Given the description of an element on the screen output the (x, y) to click on. 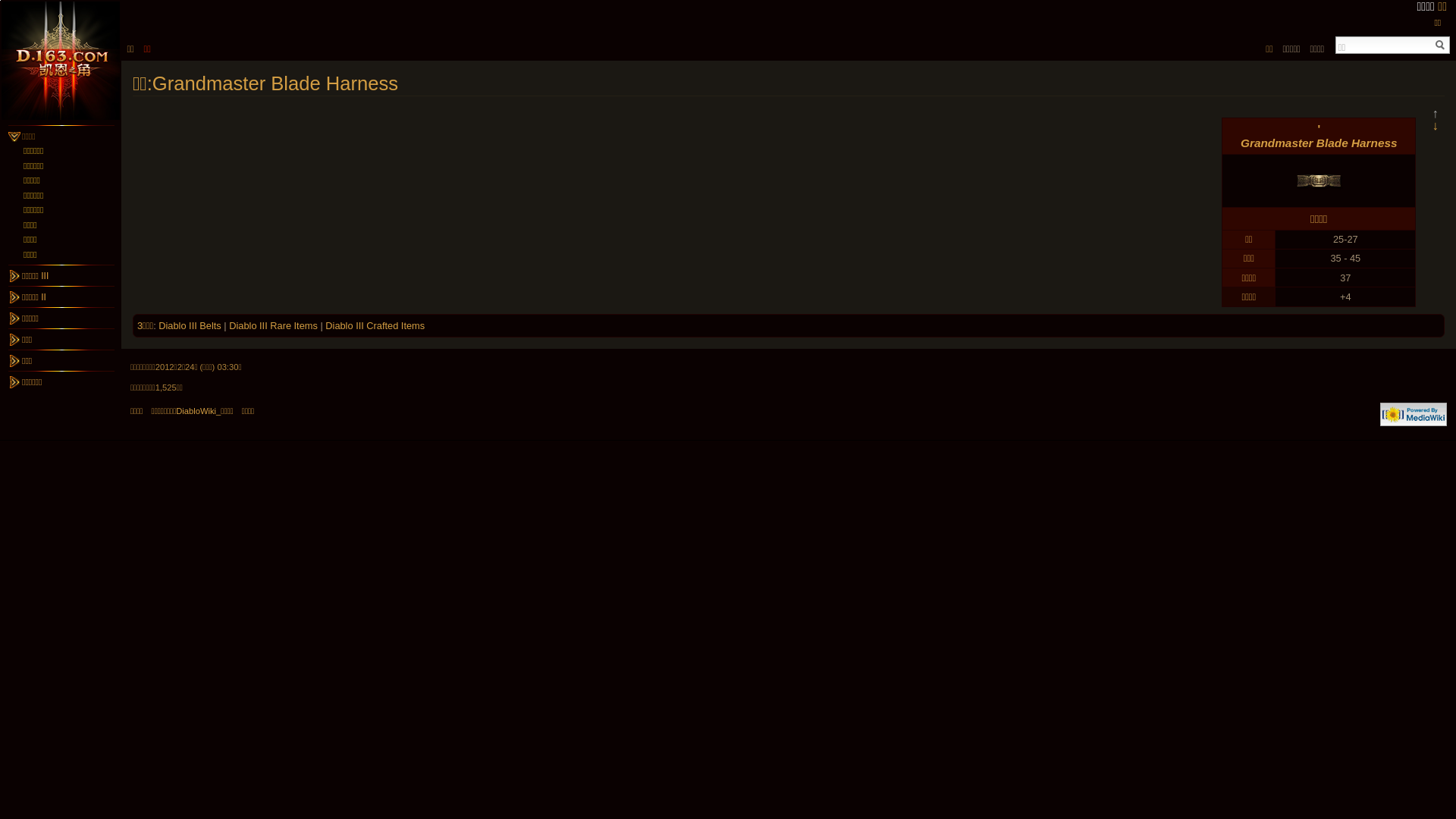
Diablo III Crafted Items Element type: text (374, 325)
  Element type: text (1440, 44)
Diablo III Rare Items Element type: text (273, 325)
Diablo III Belts Element type: text (189, 325)
